Given the description of an element on the screen output the (x, y) to click on. 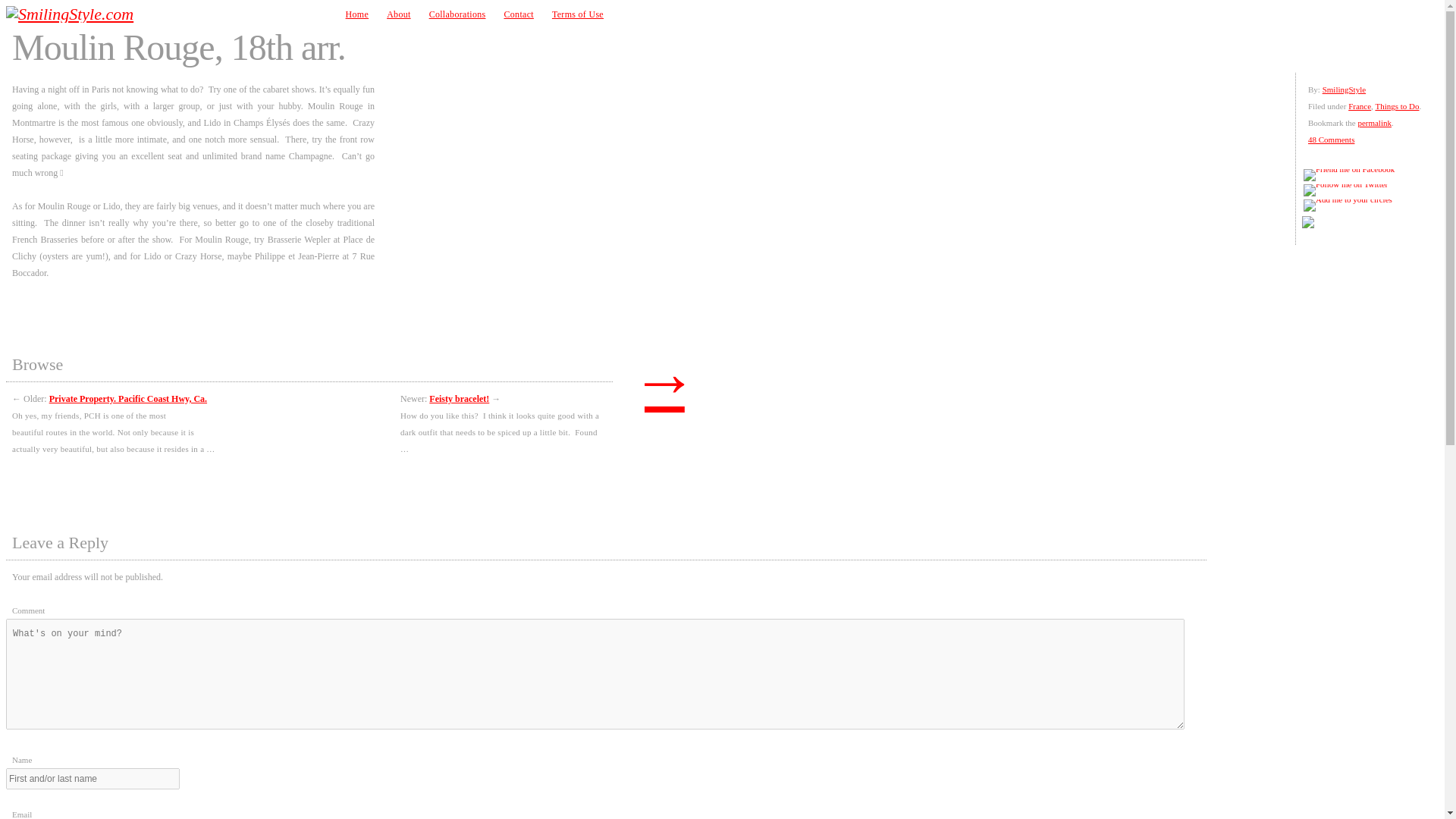
A website for ladies who'll never stop being chix! (115, 13)
Friend me on Facebook (1348, 174)
Things to Do (1396, 105)
Private Property. Pacific Coast Hwy, Ca. (127, 398)
View all posts by SmilingStyle (1343, 89)
Follow me on Twitter (1345, 190)
Add me to your circles (1347, 205)
Permalink to Moulin Rouge, 18th arr. (1373, 122)
Contact (518, 13)
About (398, 13)
